Given the description of an element on the screen output the (x, y) to click on. 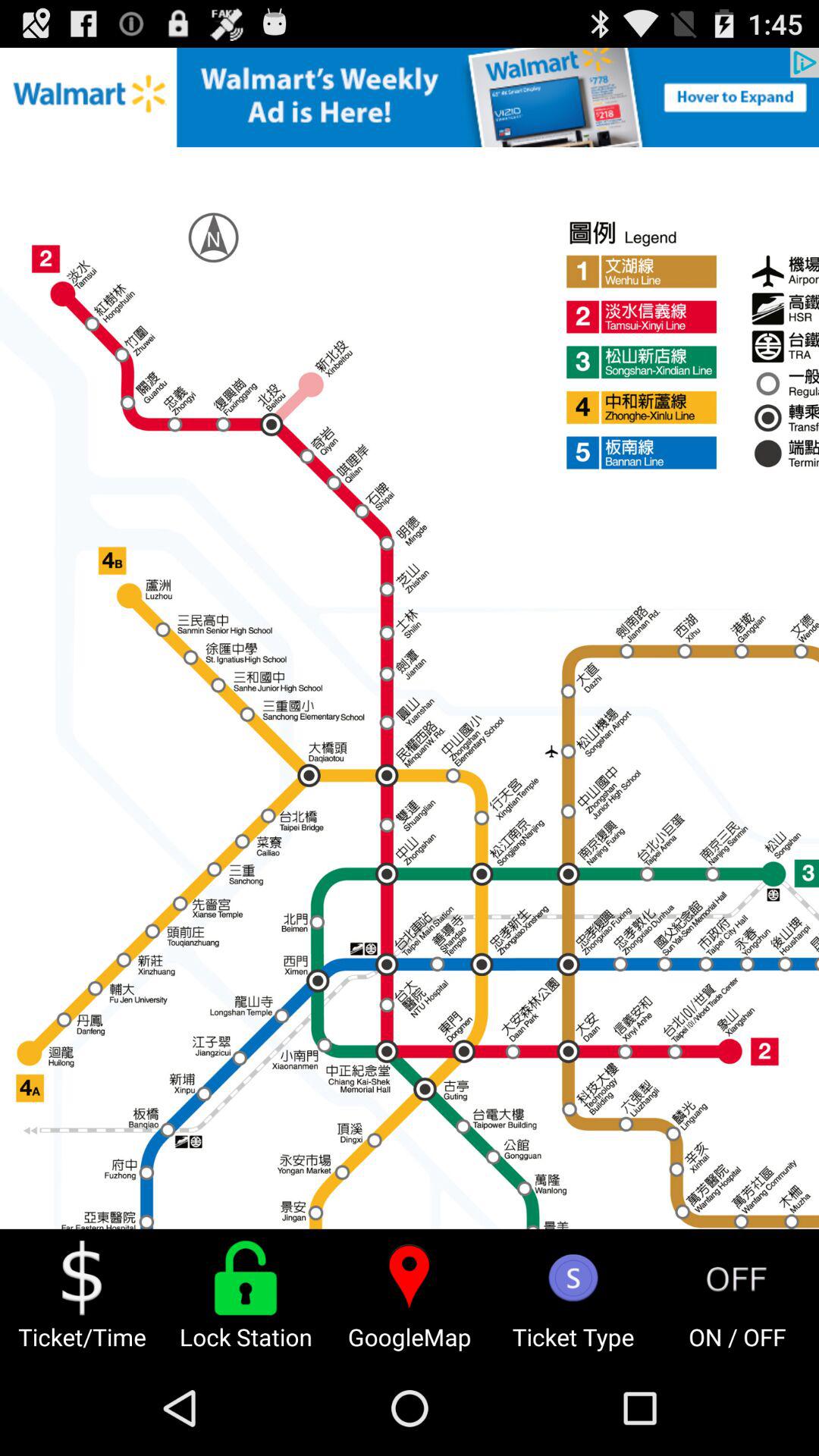
open walmart advertisement (409, 97)
